Given the description of an element on the screen output the (x, y) to click on. 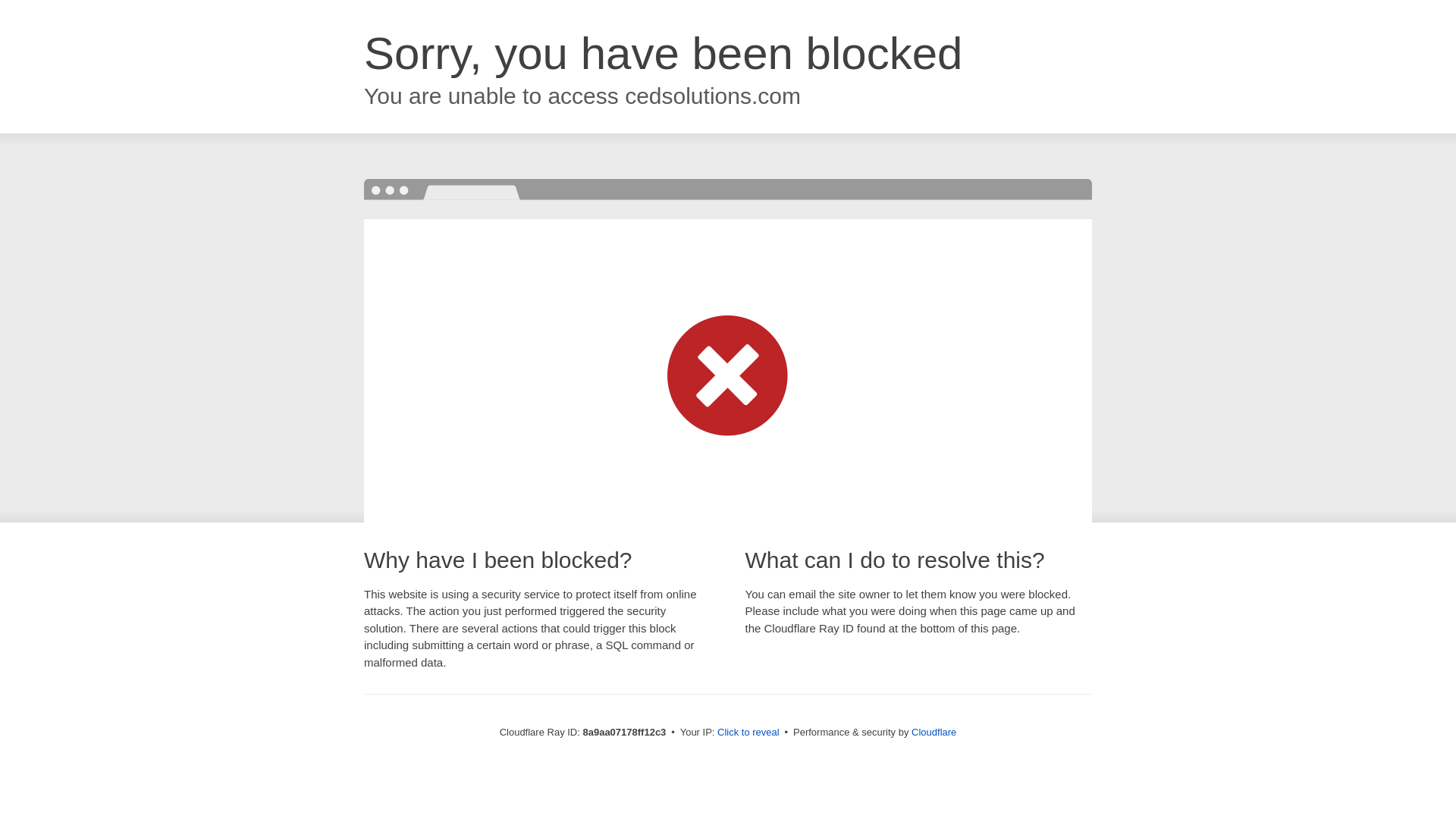
Cloudflare (933, 731)
Click to reveal (747, 732)
